Given the description of an element on the screen output the (x, y) to click on. 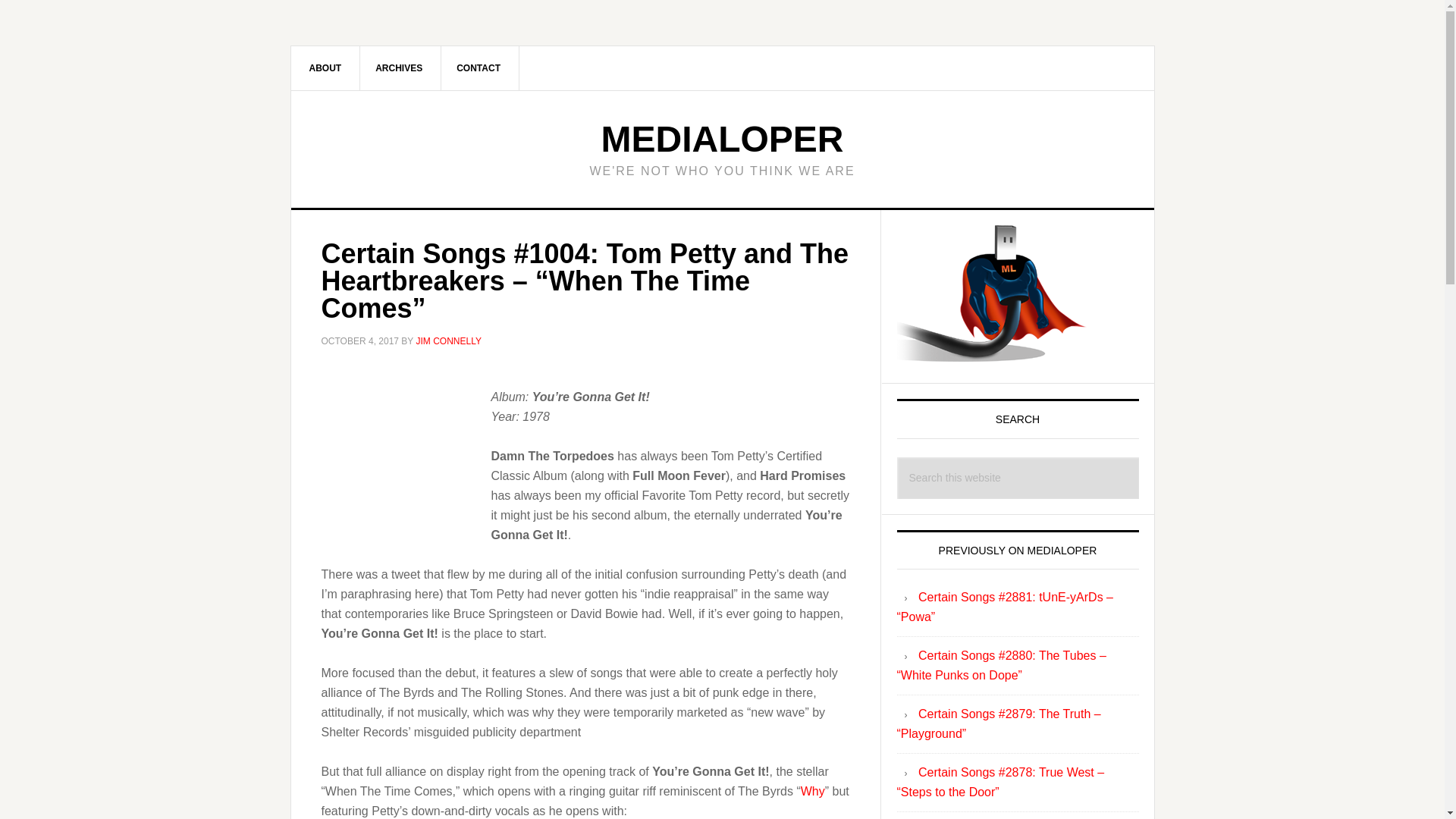
ABOUT (326, 67)
JIM CONNELLY (447, 340)
CONTACT (478, 67)
Why (812, 789)
MEDIALOPER (721, 138)
ARCHIVES (398, 67)
